Given the description of an element on the screen output the (x, y) to click on. 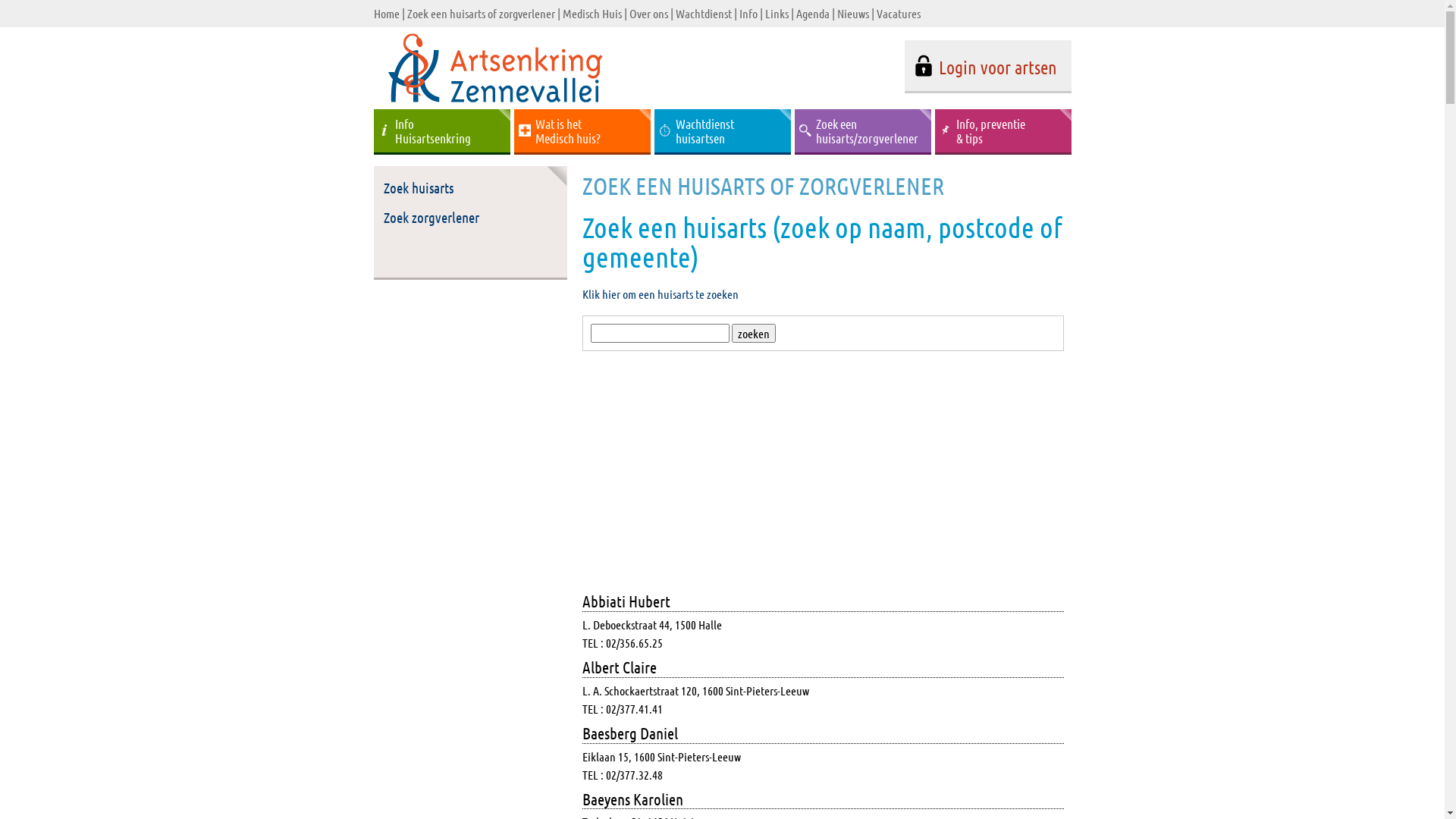
Zoek zorgverlener Element type: text (470, 218)
Home Element type: text (385, 13)
Wachtdienst huisartsen Element type: text (721, 131)
Wat is het Medisch huis? Element type: text (582, 131)
Info, preventie & tips Element type: text (1002, 131)
Medisch Huis Element type: text (591, 13)
Info Huisartsenkring Element type: text (441, 131)
Links Element type: text (775, 13)
Zoek een huisarts of zorgverlener Element type: text (480, 13)
Vacatures Element type: text (898, 13)
Zoek huisarts Element type: text (470, 188)
Nieuws Element type: text (853, 13)
Info Element type: text (747, 13)
Klik hier om een huisarts te zoeken Element type: text (660, 293)
Zoek een huisarts/zorgverlener Element type: text (862, 131)
Wachtdienst Element type: text (702, 13)
Agenda Element type: text (812, 13)
Login voor artsen Element type: text (986, 66)
ARTSENKRING ZENNEVALLEI Element type: hover (495, 104)
Over ons Element type: text (648, 13)
zoeken Element type: text (753, 332)
